Given the description of an element on the screen output the (x, y) to click on. 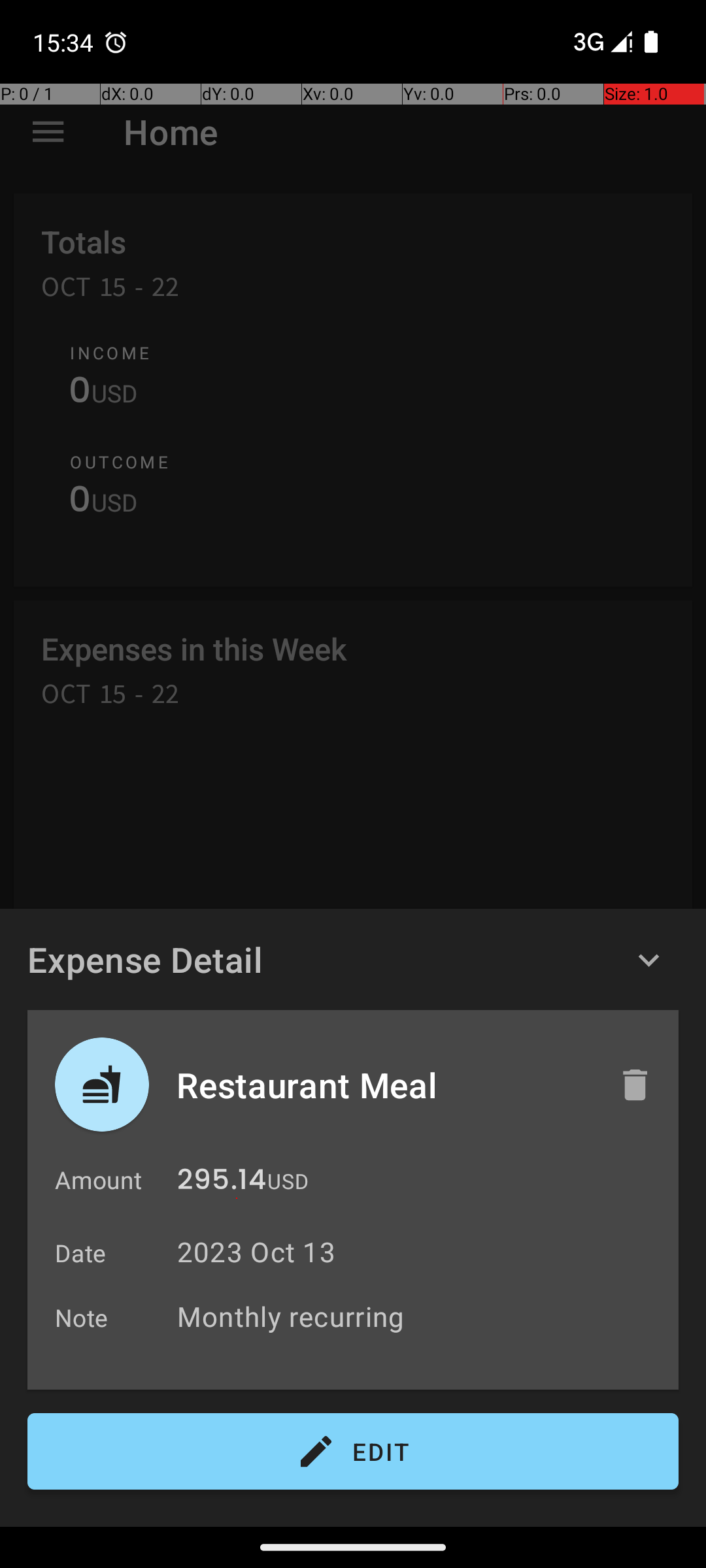
Restaurant Meal Element type: android.widget.TextView (383, 1084)
295.14 Element type: android.widget.TextView (221, 1182)
